Given the description of an element on the screen output the (x, y) to click on. 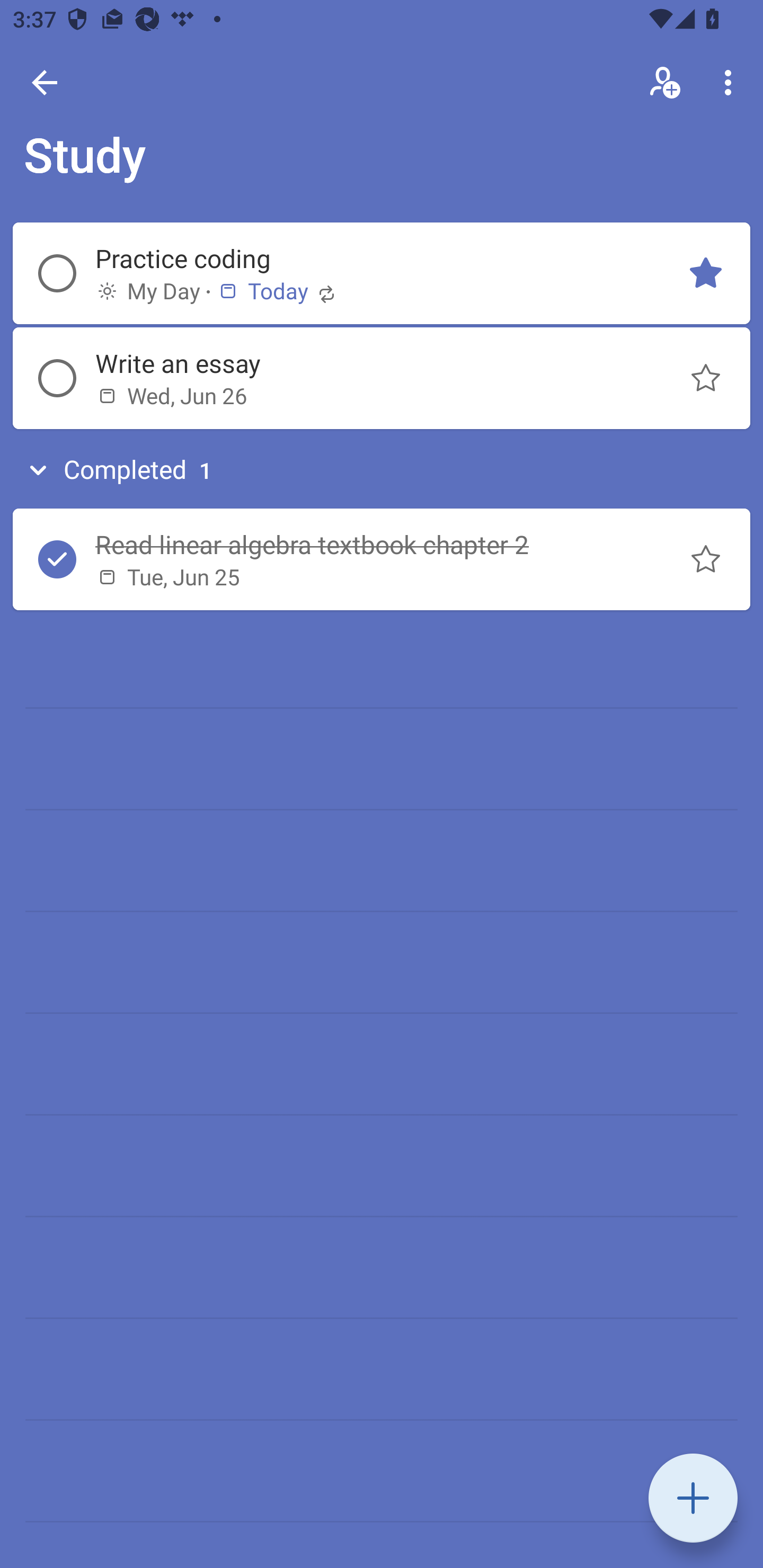
Add a task (692, 1497)
